Given the description of an element on the screen output the (x, y) to click on. 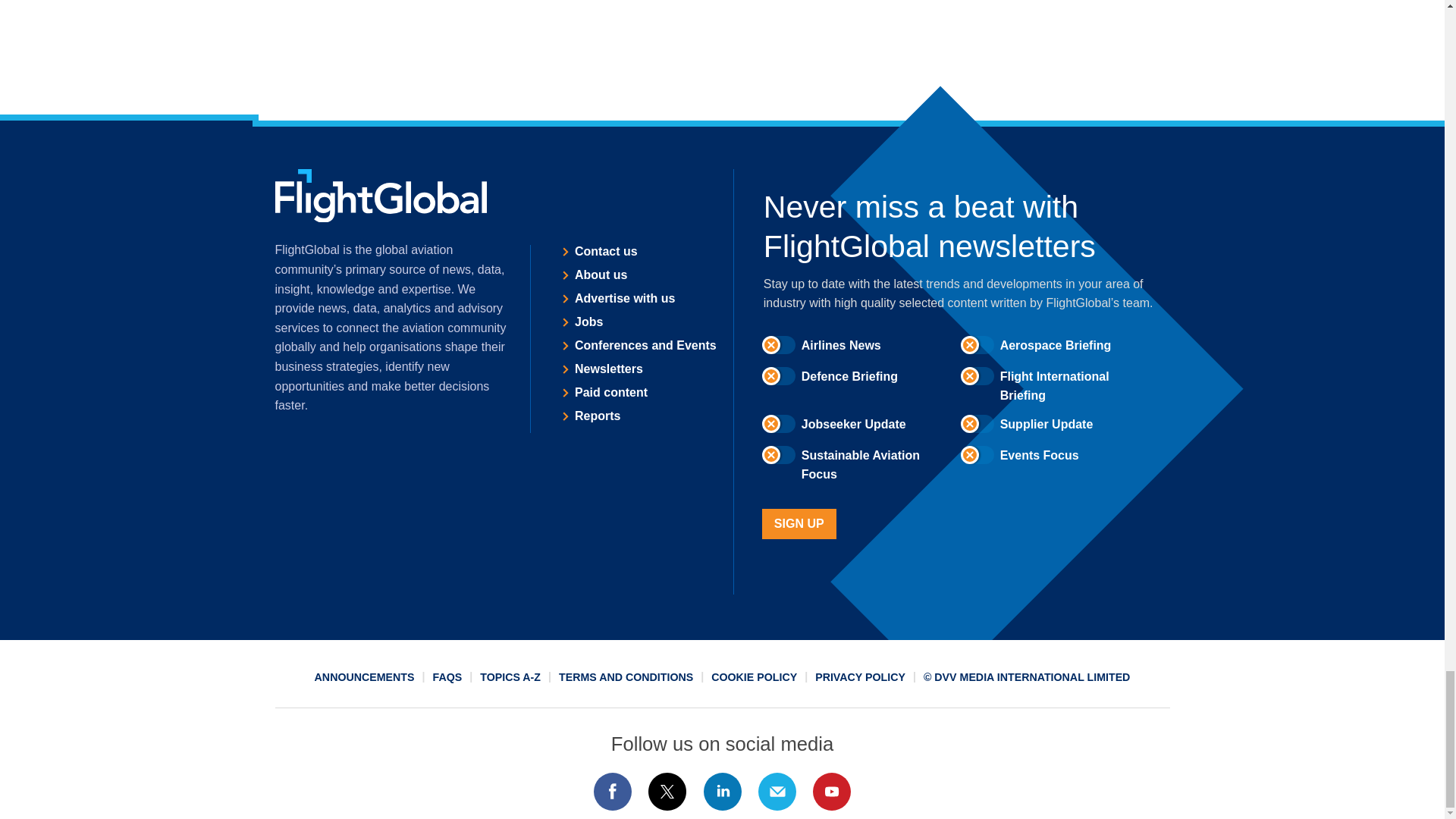
Email us (776, 791)
Connect with us on Twitter (667, 791)
Connect with us on Youtube (831, 791)
